Given the description of an element on the screen output the (x, y) to click on. 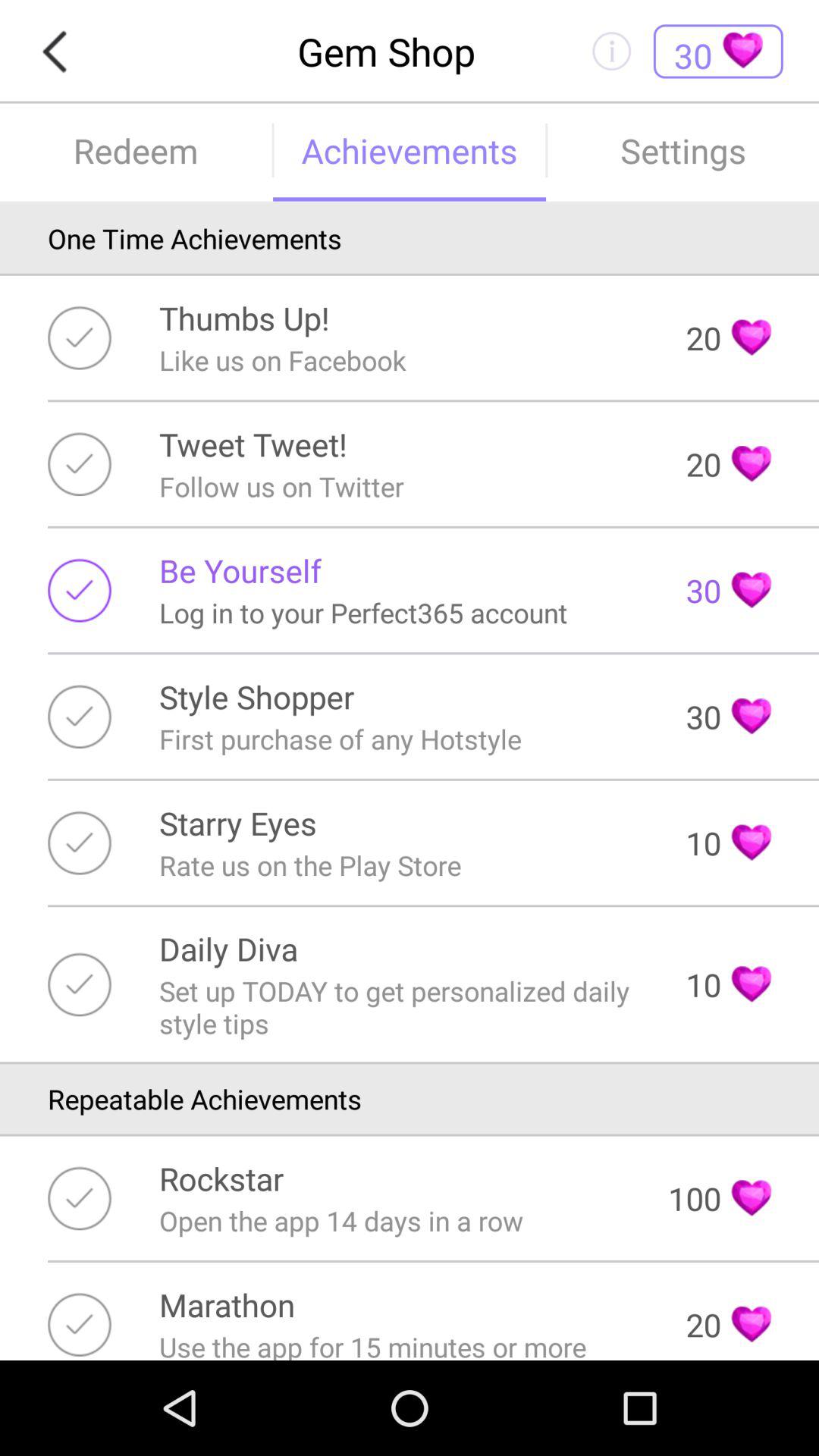
press the item below be yourself (363, 612)
